Given the description of an element on the screen output the (x, y) to click on. 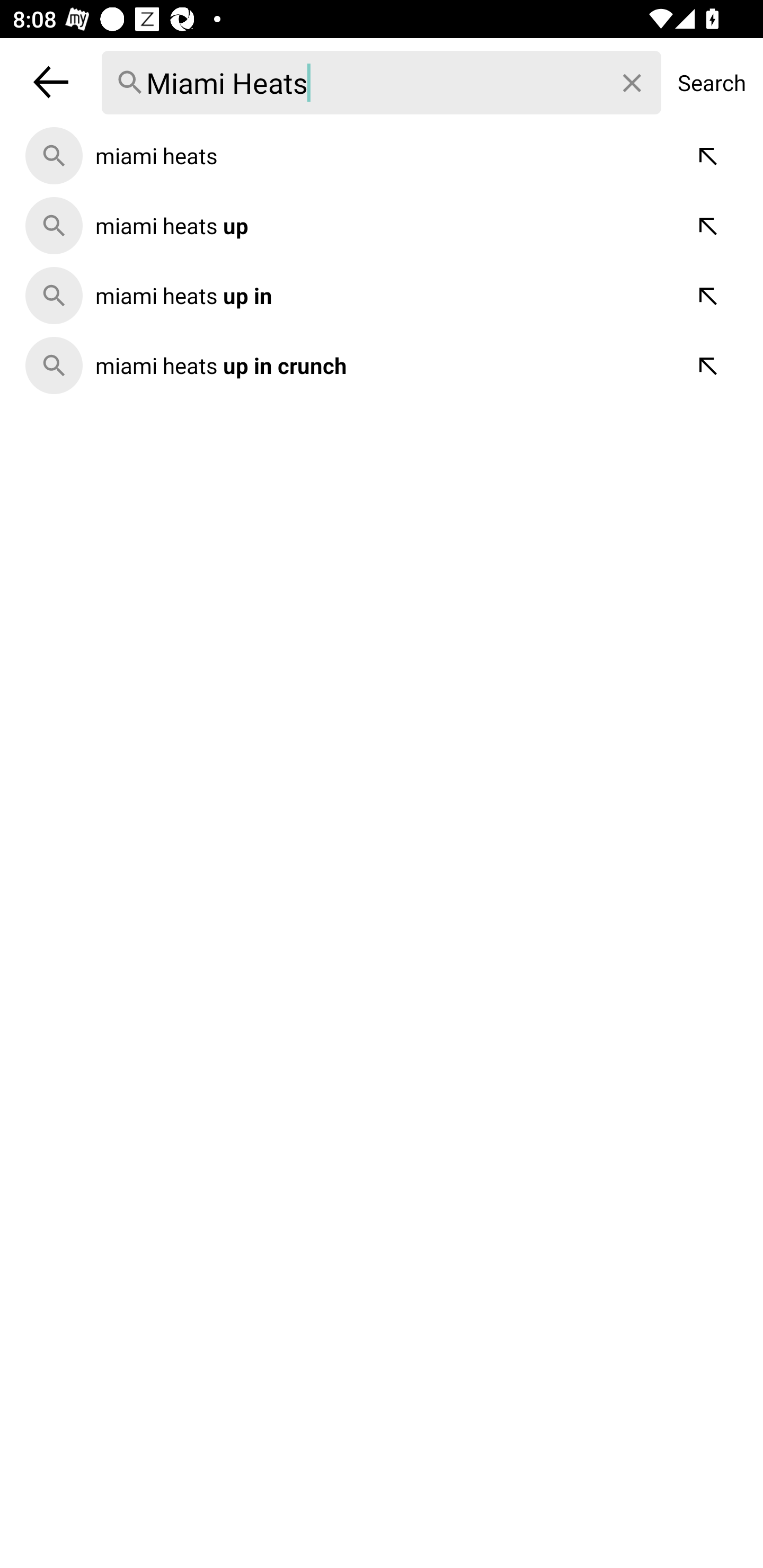
close (50, 81)
search Miami Heats clear (381, 82)
Miami Heats (381, 82)
clear (632, 82)
Search (711, 82)
search miami heats Fill in miami heats (381, 156)
Fill in miami heats (708, 156)
search miami heats up Fill in miami heats up (381, 225)
Fill in miami heats up (708, 225)
search miami heats up in Fill in miami heats up in (381, 295)
Fill in miami heats up in (708, 295)
Fill in miami heats up in crunch (708, 365)
